Given the description of an element on the screen output the (x, y) to click on. 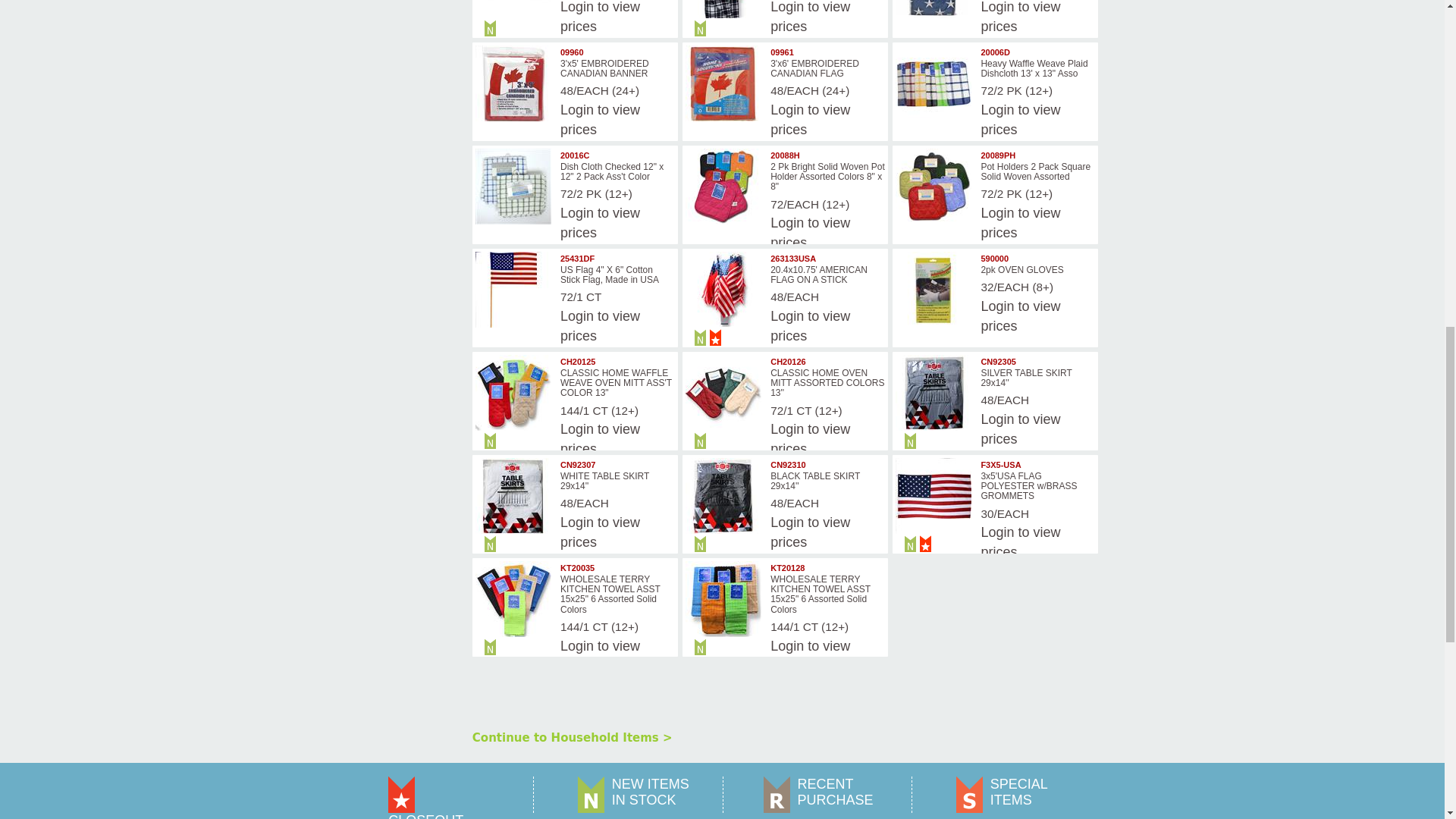
Wholesale 3' x 5' NYLON FLAG EMBROIDERED (933, 9)
Wholesale Dish Cloth Checked 12" x 12" 2 Pack Ass't Color (513, 186)
Wholesale 6PK YELLOW DUSTING CLOTH 25x40CM (513, 9)
Wholesale Heavy Waffle Weave Plaid Dishcloth 13' x 13" Asso (933, 83)
Wholesale 2PK WAFFLE WEAVE DISH CLOTH 13x13'' (723, 9)
Wholesale 3'x5' EMBROIDERED CANADIAN BANNER (513, 83)
Wholesale 3'x6' EMBROIDERED CANADIAN FLAG (723, 83)
